Given the description of an element on the screen output the (x, y) to click on. 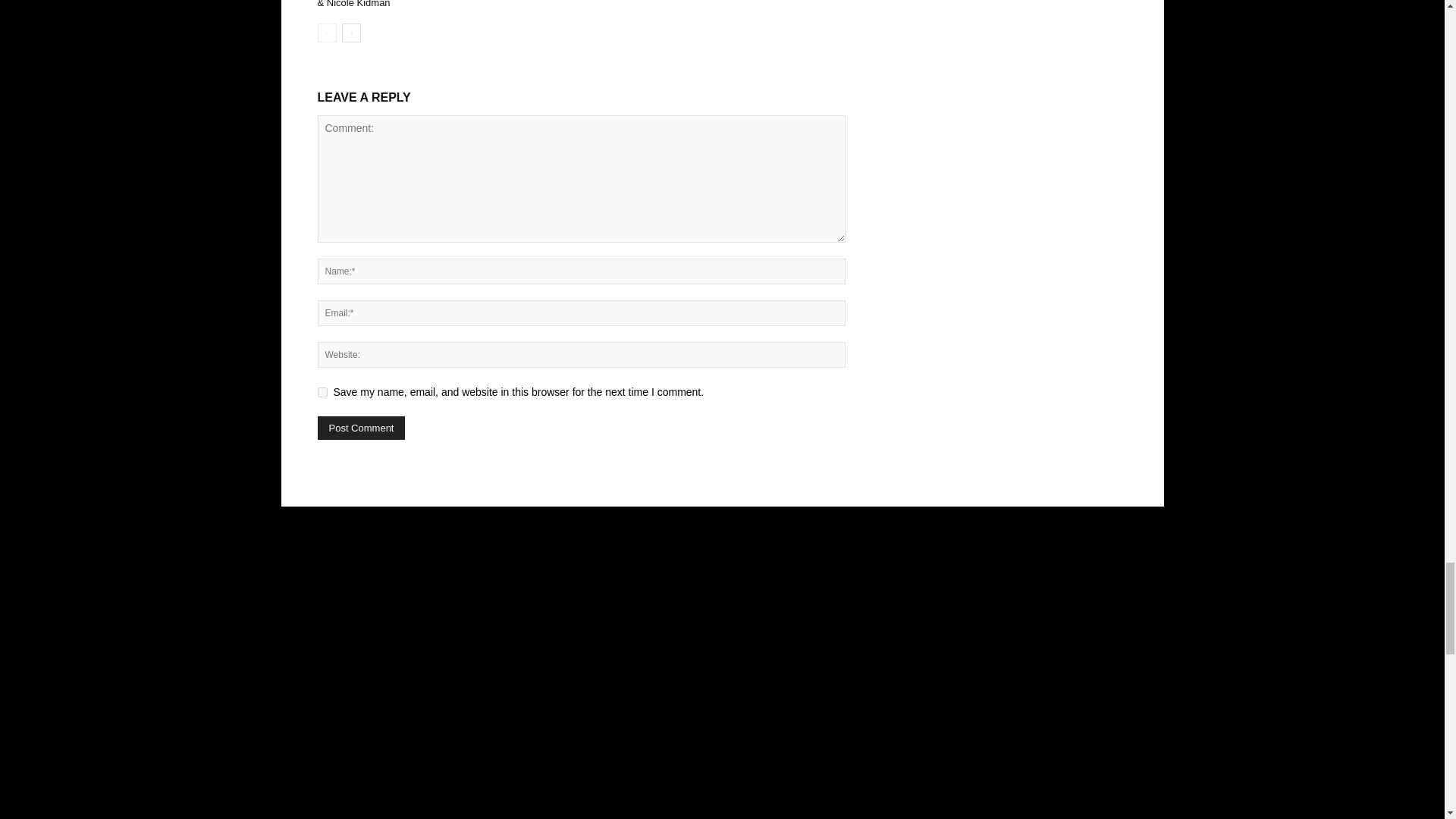
yes (321, 392)
Post Comment (360, 427)
